Given the description of an element on the screen output the (x, y) to click on. 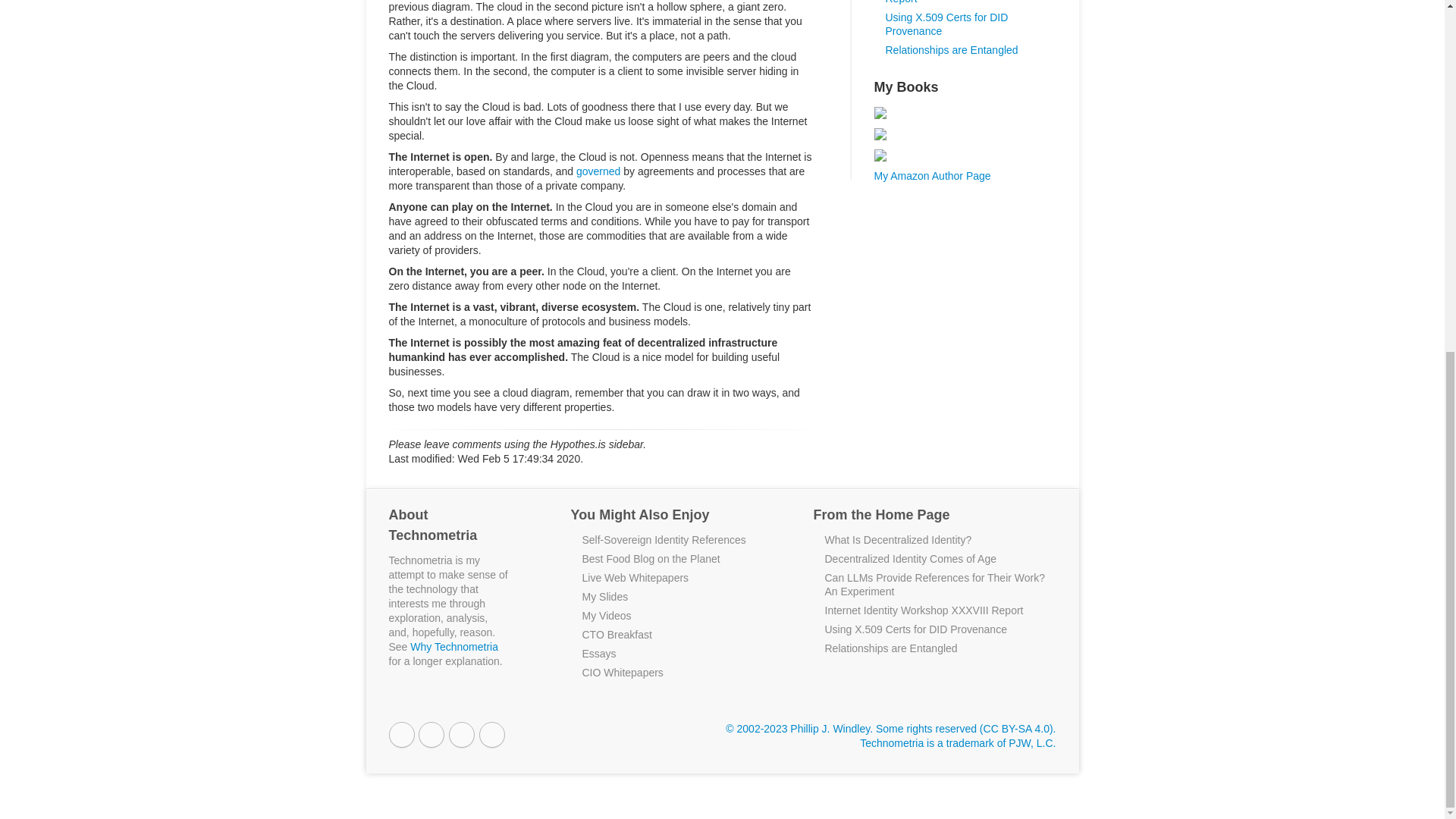
governed (598, 171)
